Given the description of an element on the screen output the (x, y) to click on. 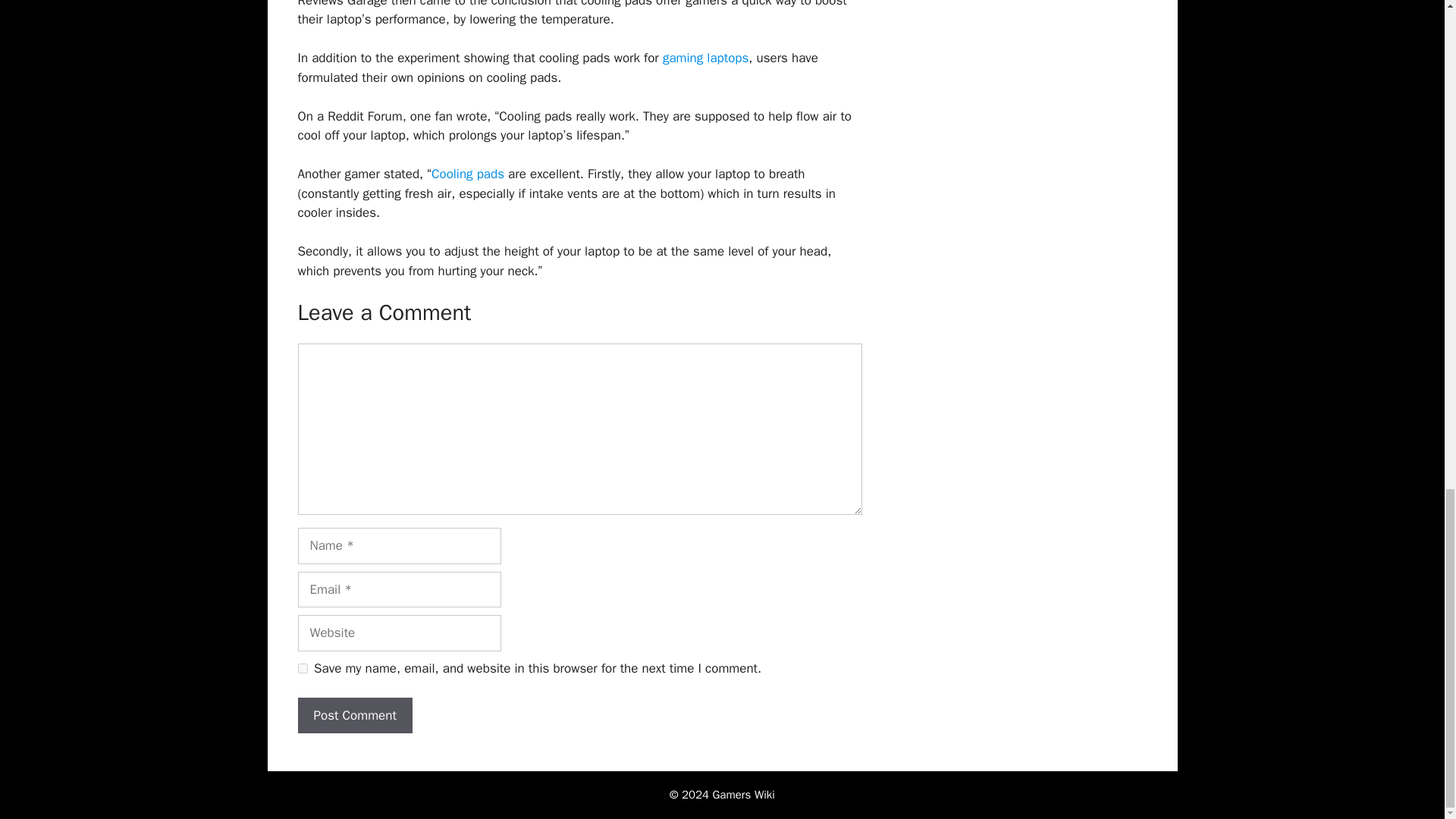
Post Comment (354, 715)
Cooling pads (466, 173)
yes (302, 668)
gaming laptops (705, 57)
Post Comment (354, 715)
